Given the description of an element on the screen output the (x, y) to click on. 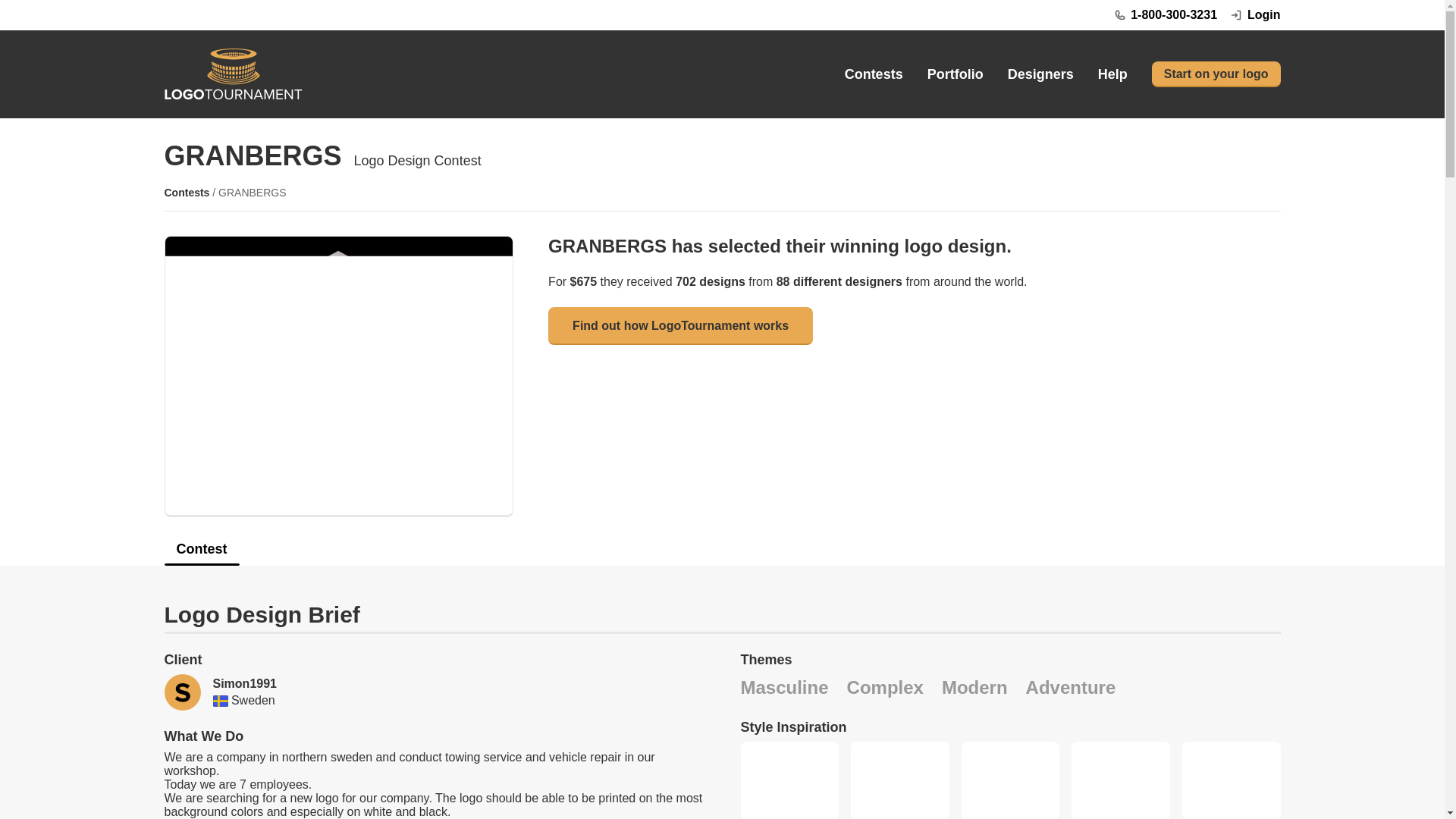
Contests (186, 192)
Help (1111, 74)
Portfolio (955, 74)
Contest (721, 553)
Simon1991 (244, 683)
1-800-300-3231 (1165, 15)
Contest (200, 553)
Find out how LogoTournament works (680, 325)
Designers (1040, 74)
Start on your logo (1216, 73)
Contests (873, 74)
Login (1253, 15)
Sweden (219, 700)
